Given the description of an element on the screen output the (x, y) to click on. 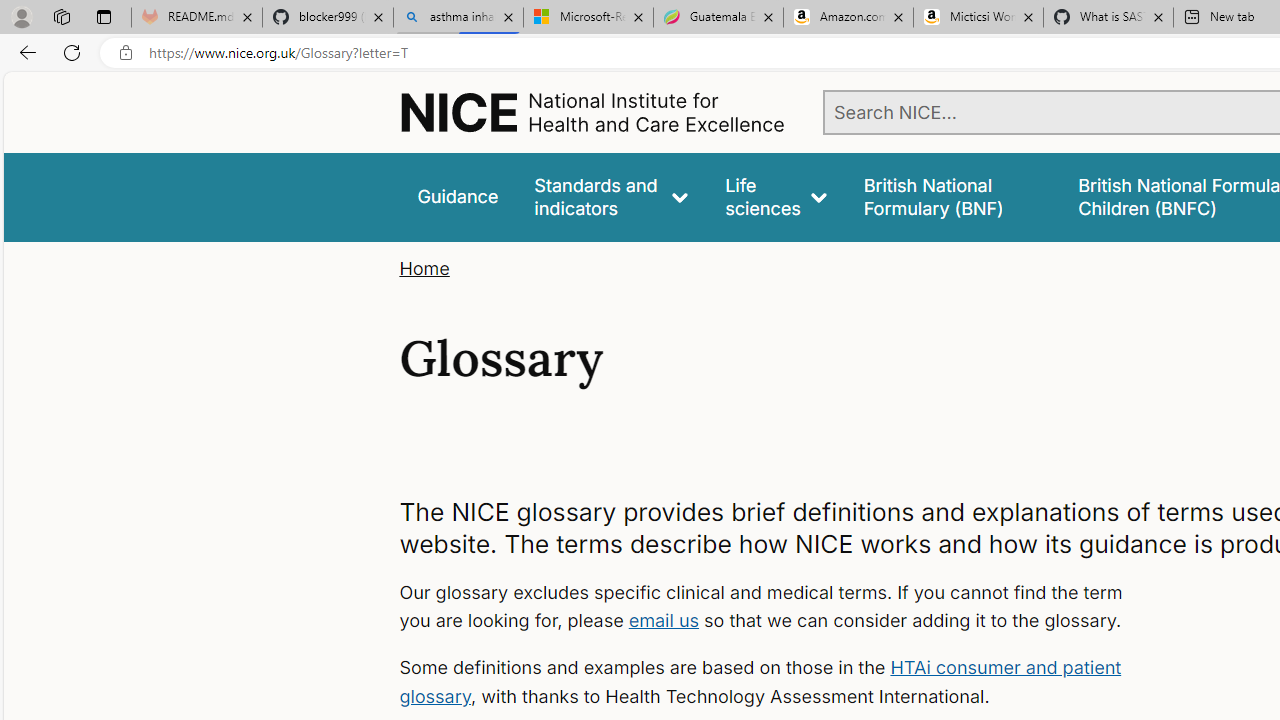
Life sciences (776, 196)
HTAi consumer and patient glossary (760, 681)
email us (664, 620)
